Given the description of an element on the screen output the (x, y) to click on. 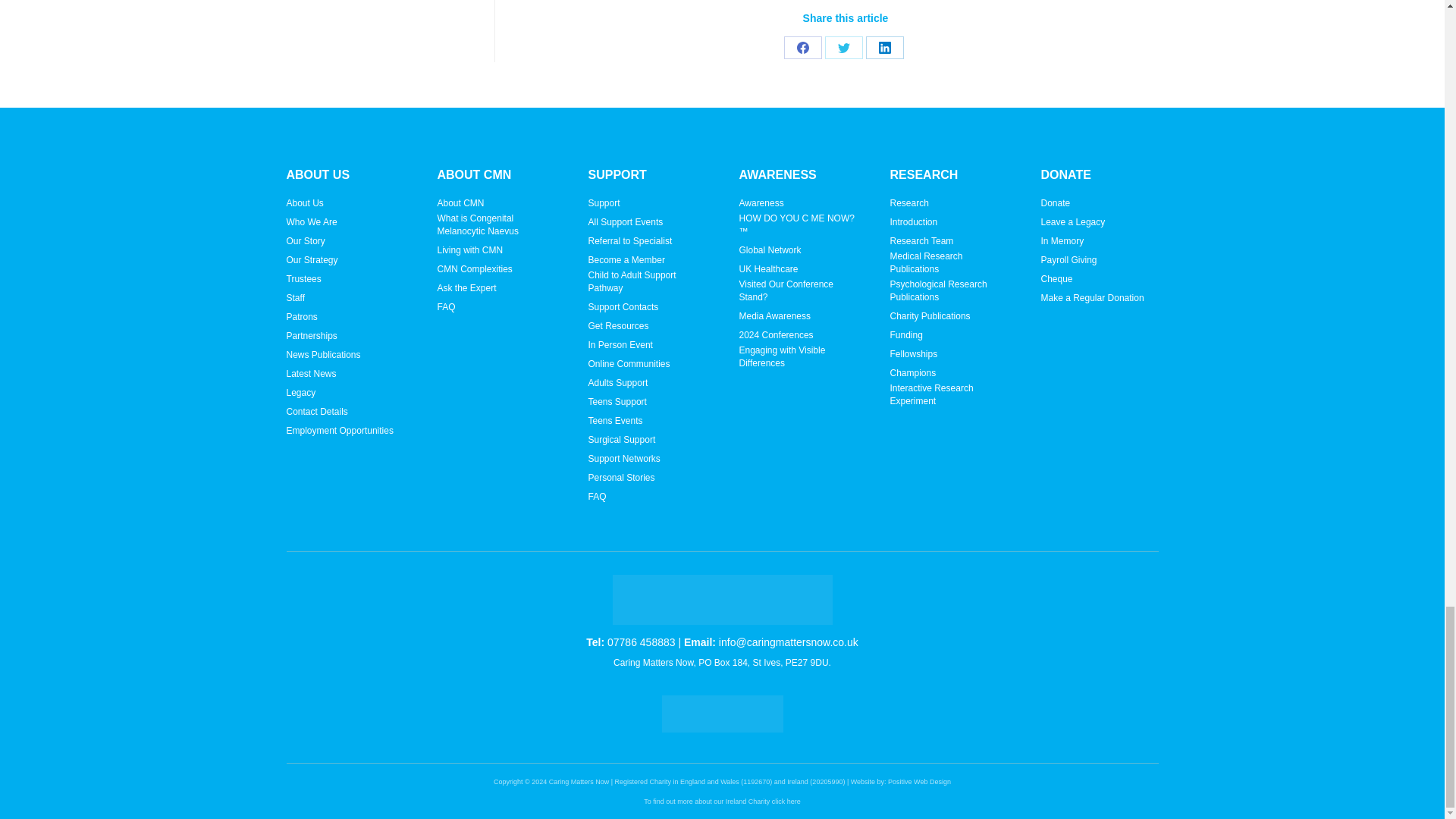
Facebook (803, 47)
LinkedIn (885, 47)
Twitter (844, 47)
